Given the description of an element on the screen output the (x, y) to click on. 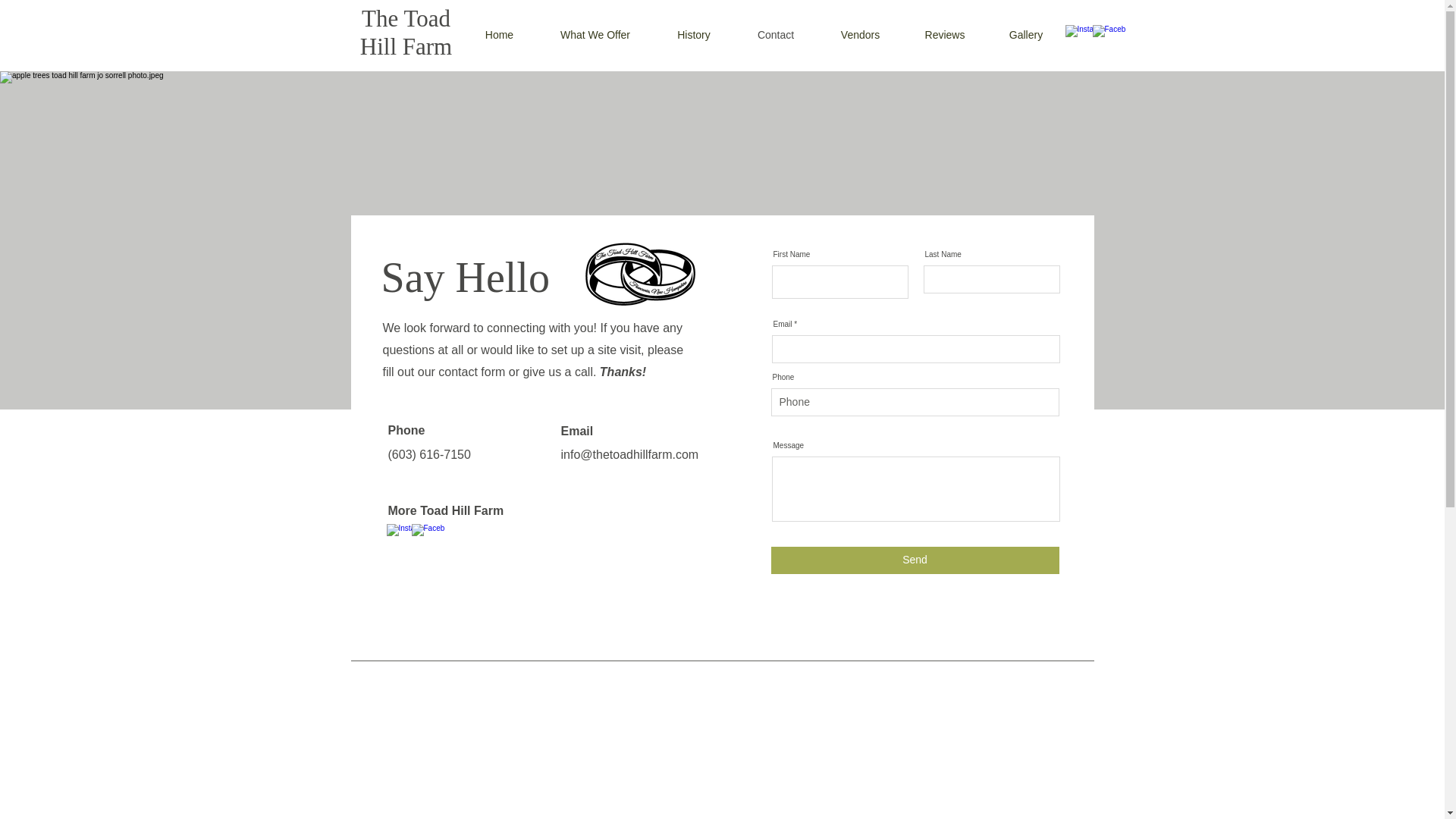
The Toad Hill Farm (405, 31)
Vendors (859, 34)
Home (500, 34)
What We Offer (595, 34)
History (693, 34)
Gallery (1026, 34)
Reviews (944, 34)
Contact (775, 34)
Send (914, 560)
